Given the description of an element on the screen output the (x, y) to click on. 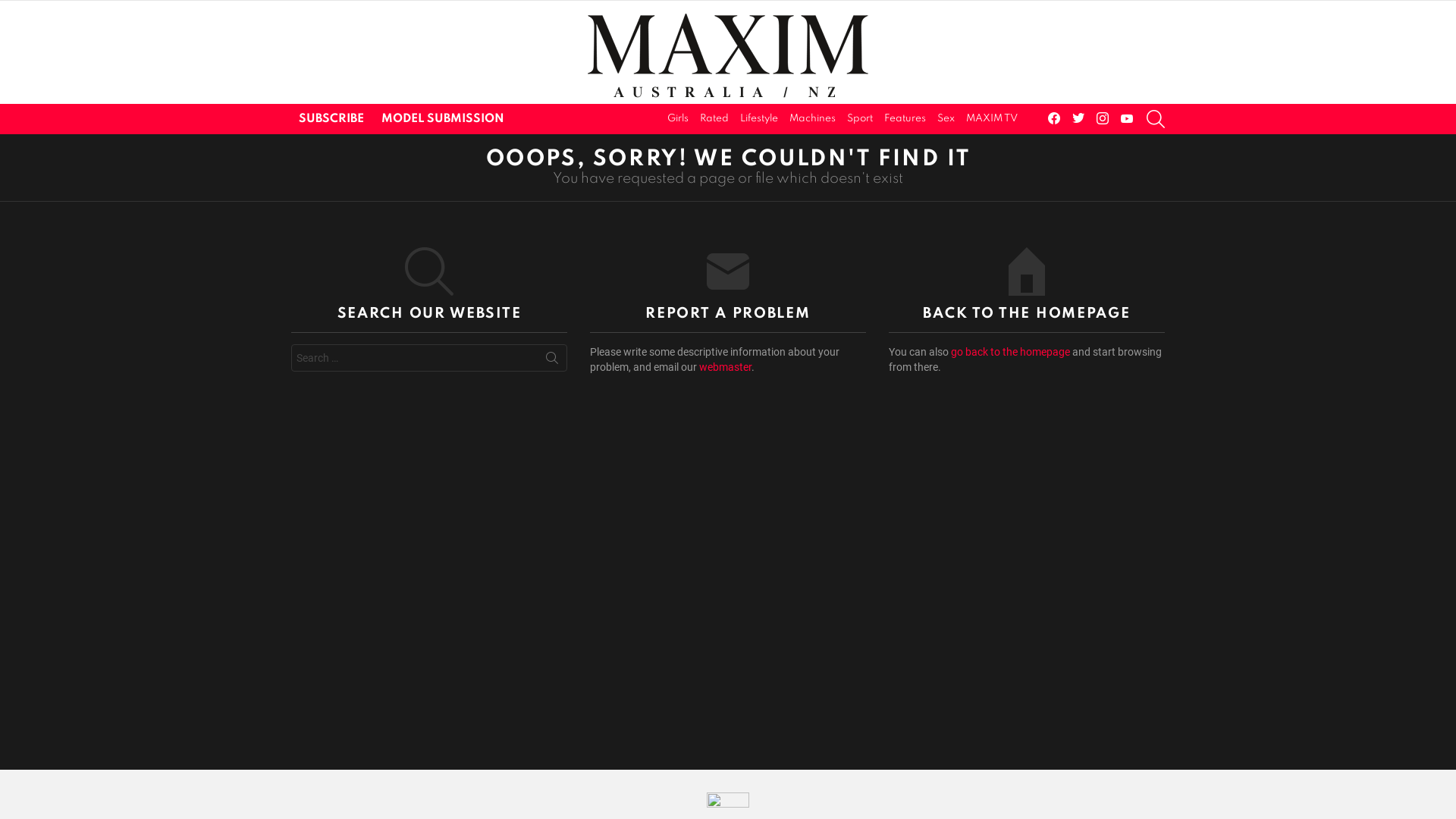
Features Element type: text (904, 118)
MODEL SUBMISSION Element type: text (442, 118)
Girls Element type: text (677, 118)
SEARCH Element type: text (551, 360)
webmaster Element type: text (725, 366)
Lifestyle Element type: text (759, 118)
instagram Element type: text (1102, 119)
Rated Element type: text (713, 118)
facebook Element type: text (1053, 119)
Sport Element type: text (859, 118)
SEARCH Element type: text (1155, 118)
twitter Element type: text (1078, 119)
Machines Element type: text (812, 118)
MAXIM TV Element type: text (991, 118)
Search for: Element type: hover (429, 357)
youtube Element type: text (1126, 119)
Sex Element type: text (945, 118)
SUBSCRIBE Element type: text (331, 118)
go back to the homepage Element type: text (1010, 351)
